Given the description of an element on the screen output the (x, y) to click on. 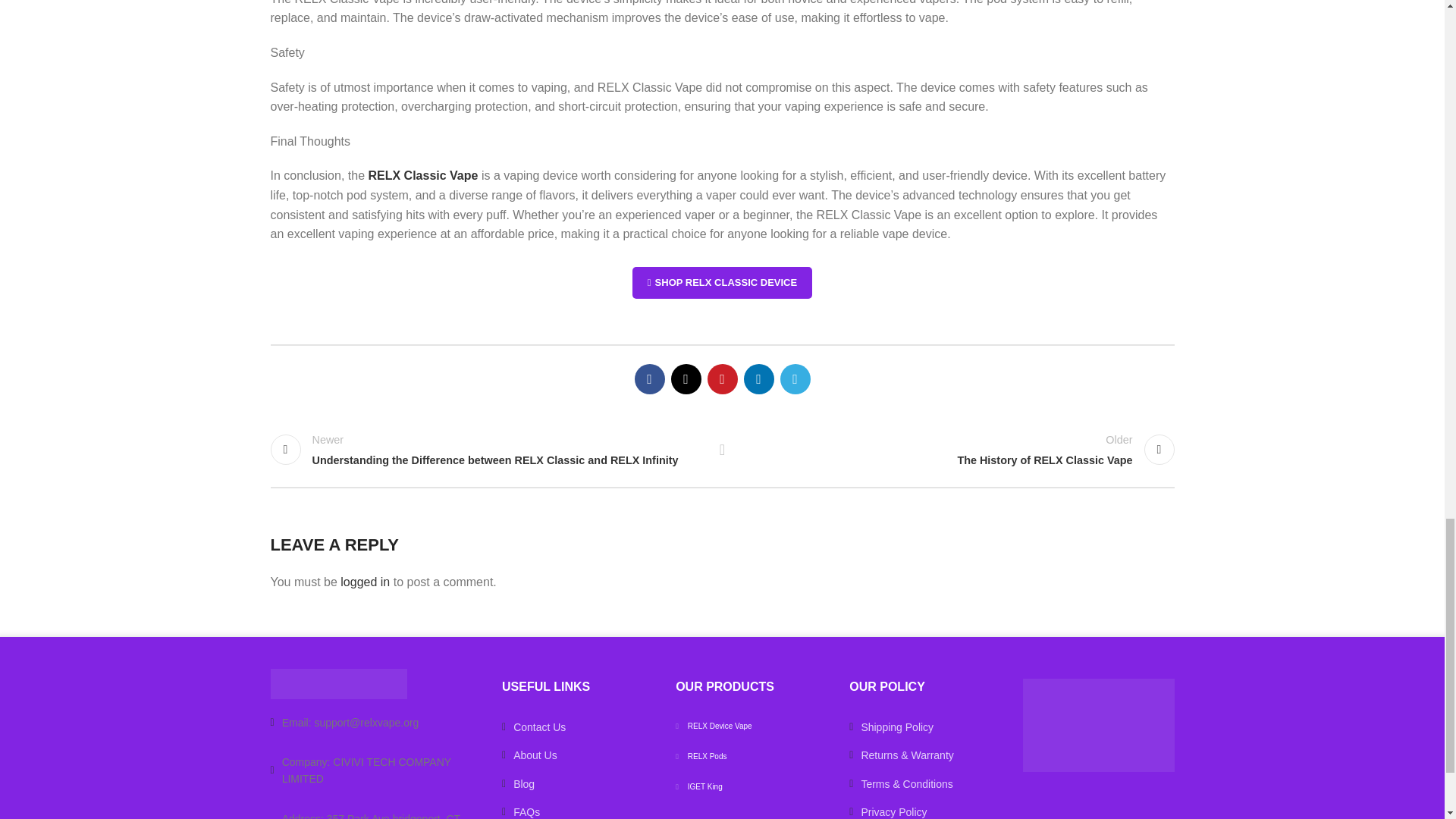
Contact Us (374, 722)
relx classic vape (721, 282)
About Us (577, 754)
Contact Us (577, 727)
Blogs (577, 783)
